Given the description of an element on the screen output the (x, y) to click on. 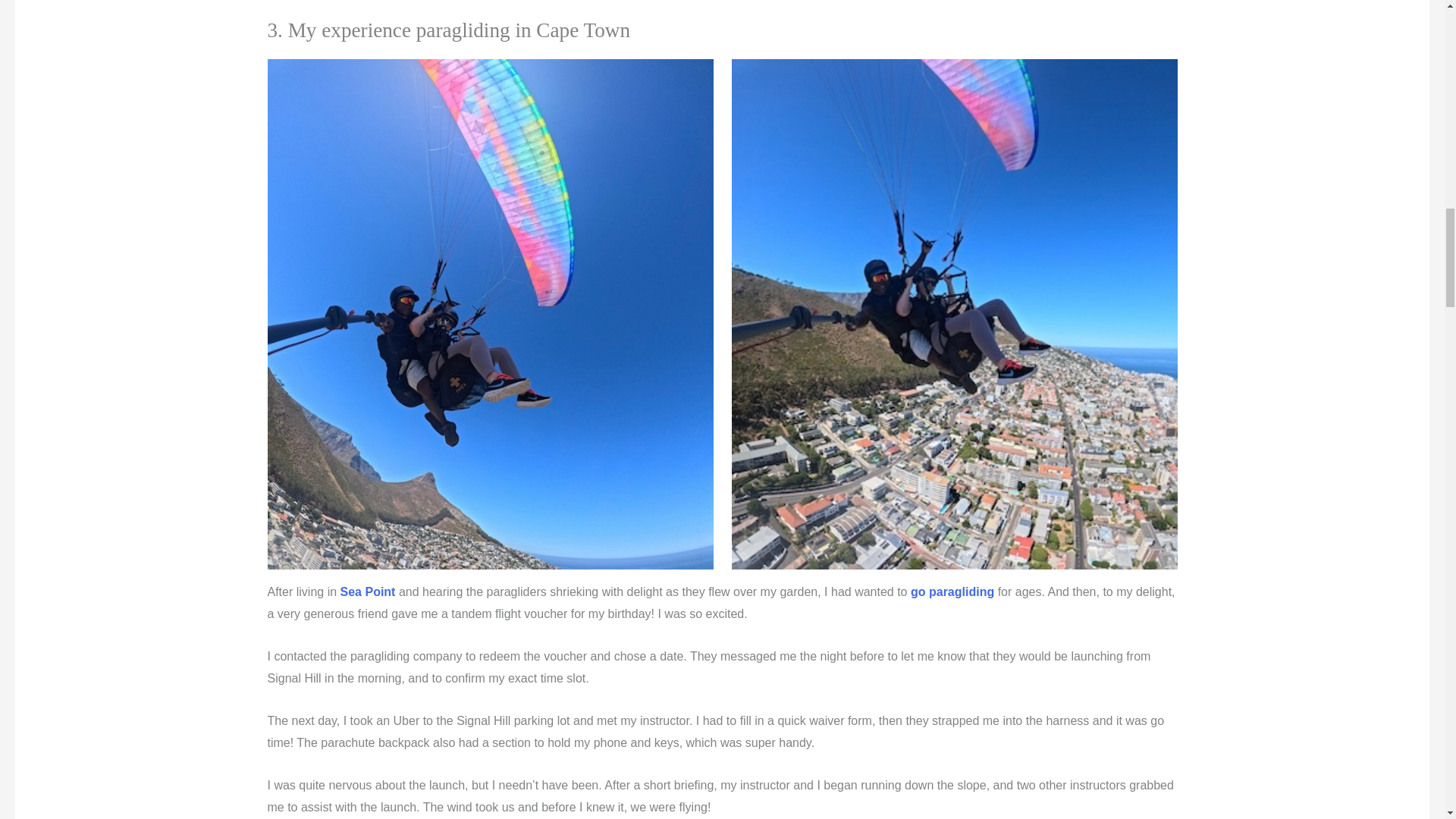
Sea Point (365, 591)
Top 13 Things To Do in Sea Point (365, 591)
go paragliding (952, 591)
